Given the description of an element on the screen output the (x, y) to click on. 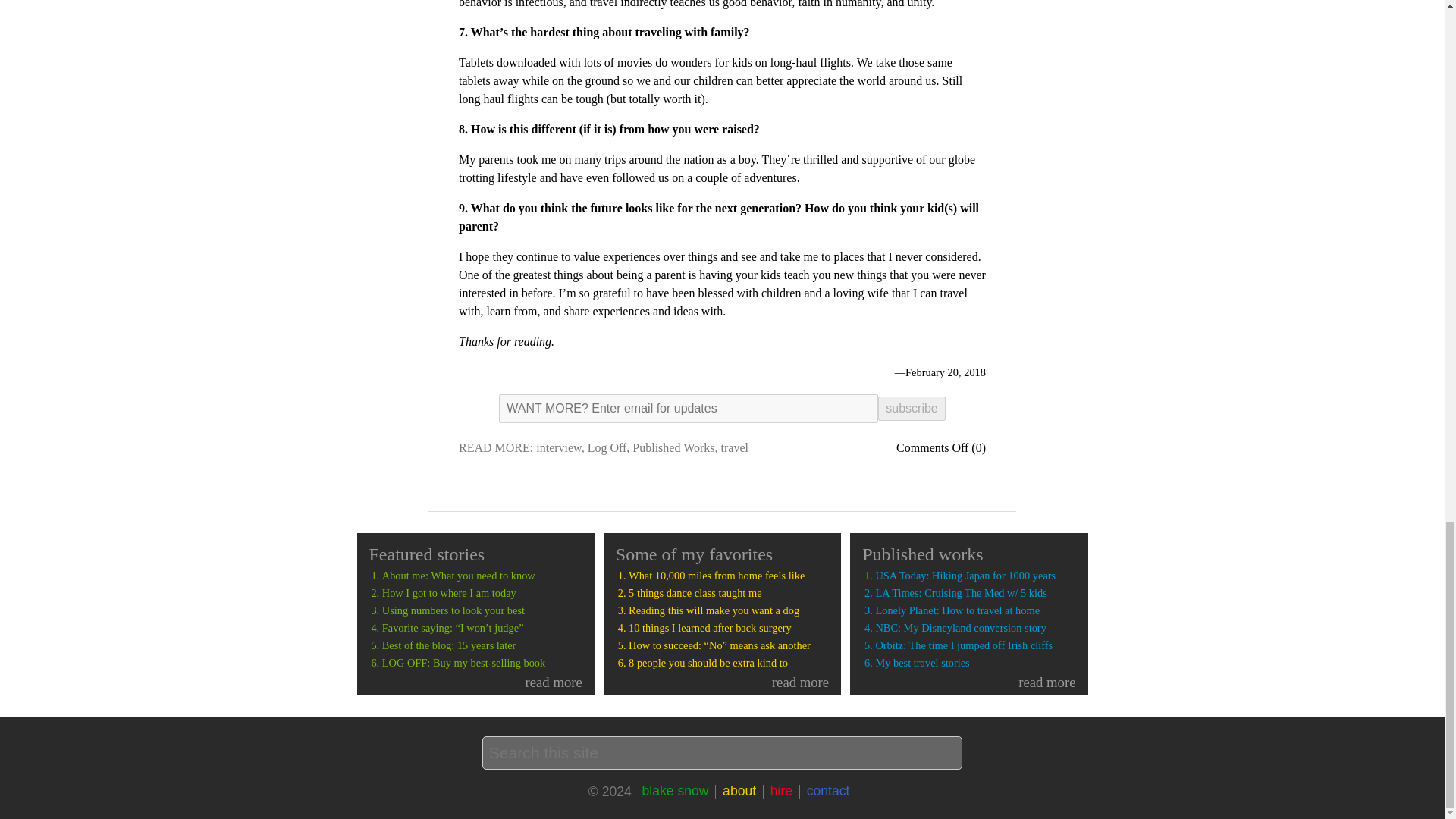
travel (734, 447)
Orbitz: The time I jumped off Irish cliffs (975, 645)
My best travel stories (975, 662)
5 things dance class taught me (728, 593)
hire (780, 790)
Best of the blog: 15 years later (481, 645)
subscribe (910, 408)
read more (728, 682)
interview (557, 447)
subscribe (910, 408)
About me: What you need to know (481, 575)
Published Works (672, 447)
What 10,000 miles from home feels like (728, 575)
read more (975, 682)
8 people you should be extra kind to (728, 662)
